Given the description of an element on the screen output the (x, y) to click on. 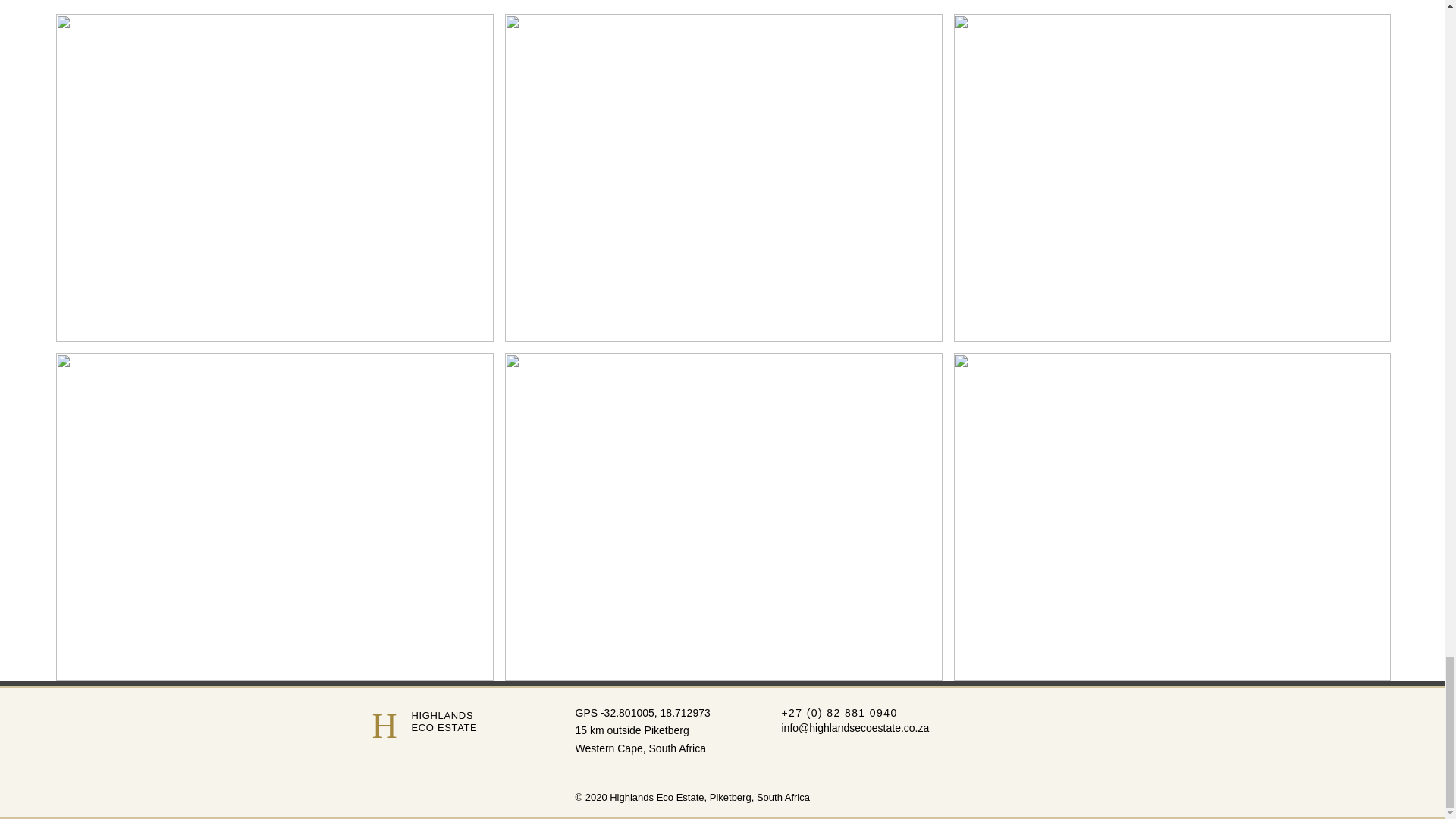
HIGHLANDS (441, 715)
ECO ESTATE (443, 727)
